Given the description of an element on the screen output the (x, y) to click on. 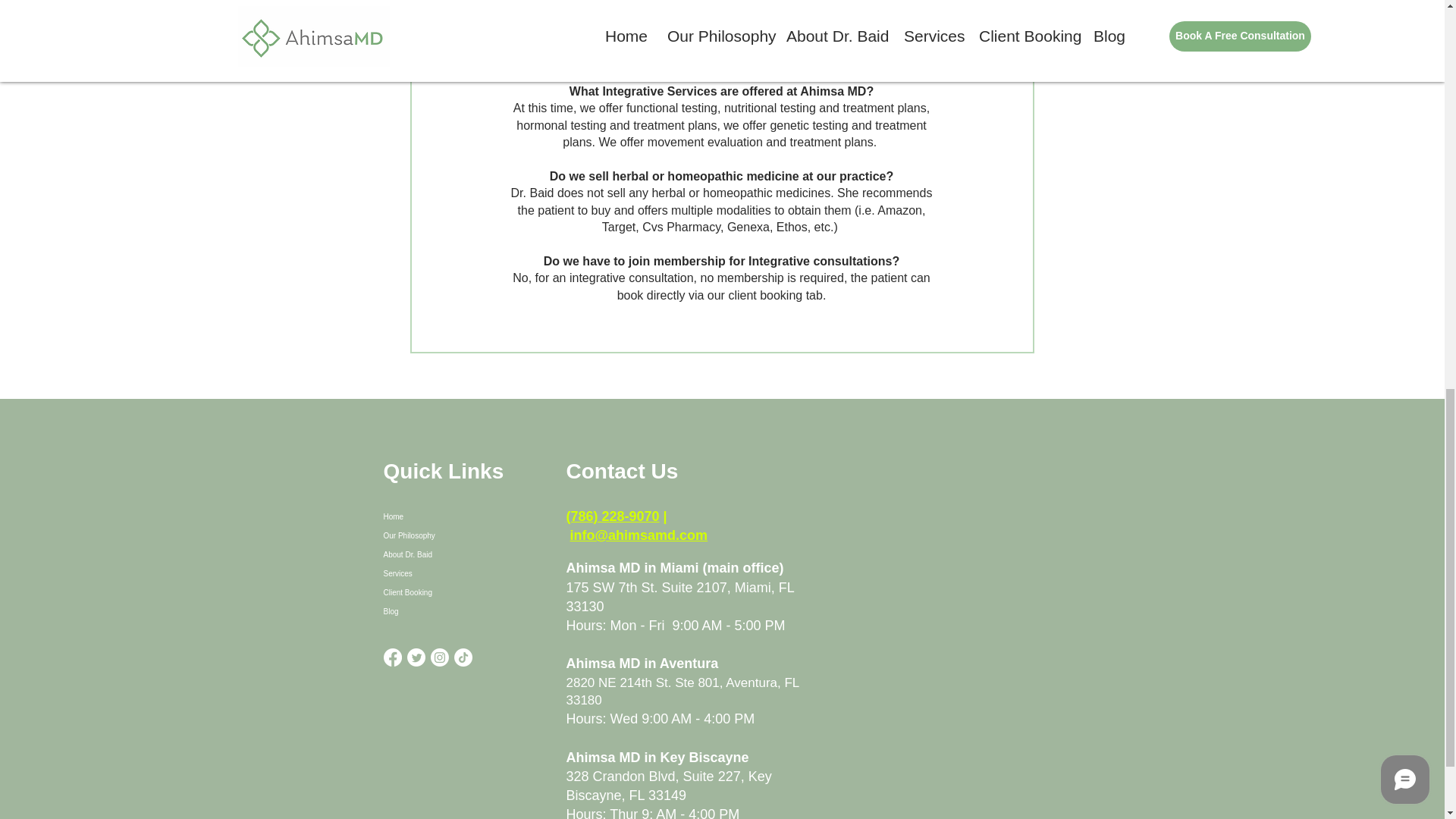
Home (460, 516)
Client Booking (460, 592)
About Dr. Baid (460, 554)
Blog (460, 610)
Services (460, 573)
Our Philosophy (460, 535)
